Given the description of an element on the screen output the (x, y) to click on. 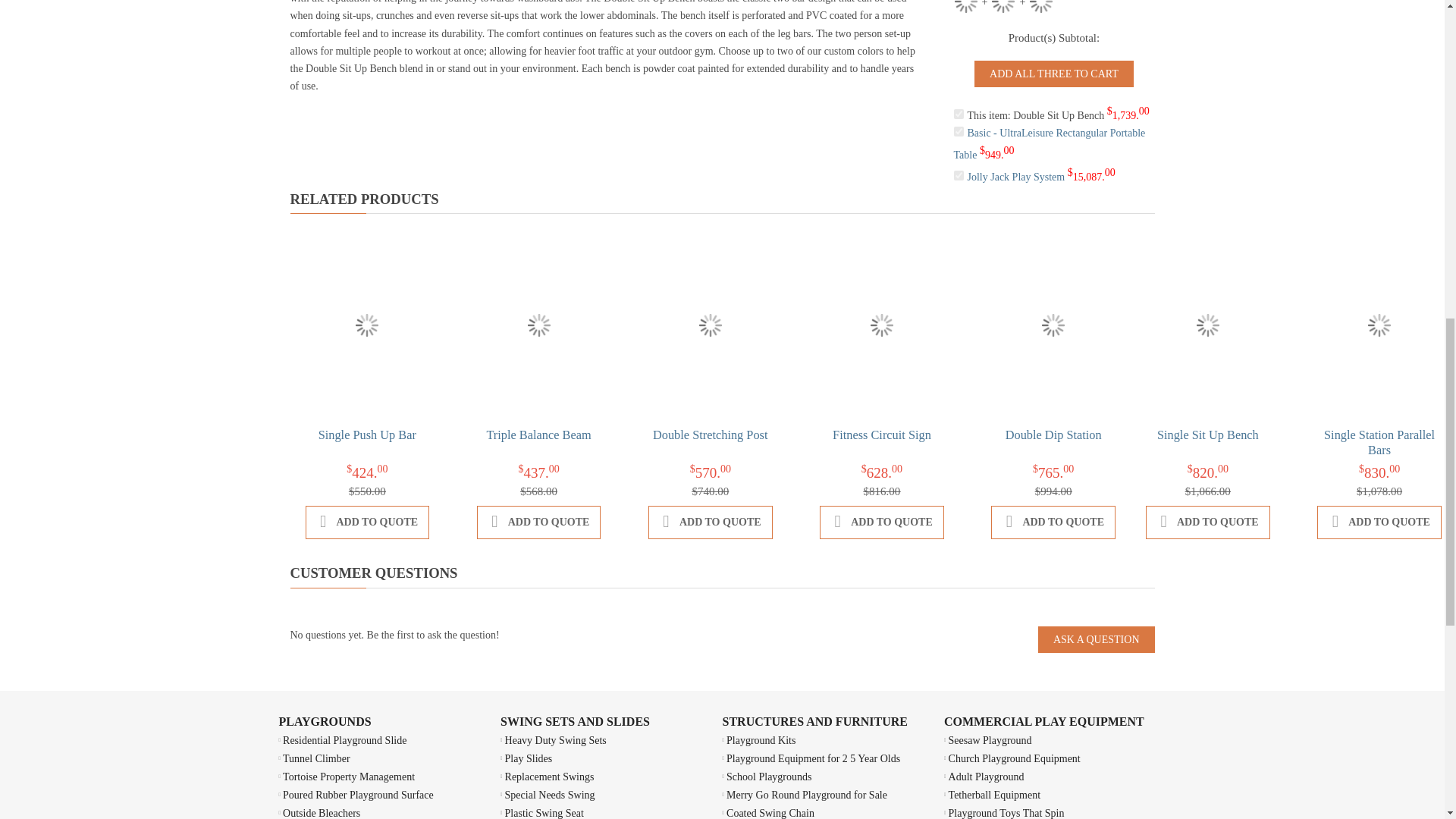
on (958, 113)
Single Push Up Bar (366, 435)
Basic - UltraLeisure Rectangular Portable Table (1002, 6)
Add to Quote (539, 522)
Jolly Jack Play System (1040, 6)
on (958, 175)
Jolly Jack Play System (1016, 176)
Double Sit Up Bench (964, 6)
Triple Balance Beam (539, 435)
on (958, 131)
